Given the description of an element on the screen output the (x, y) to click on. 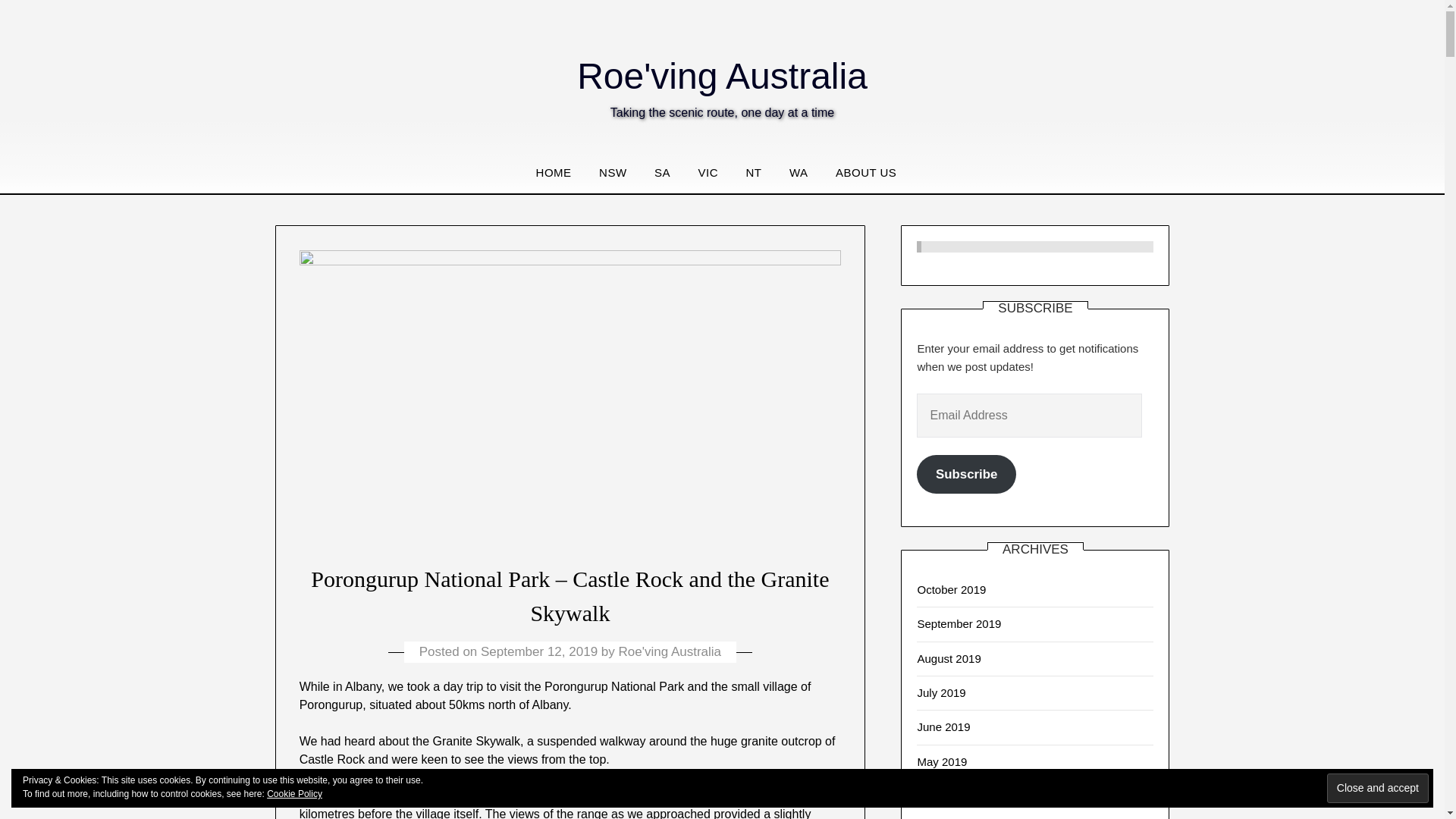
Roe'ving Australia (721, 76)
Cookie Policy (293, 793)
April 2019 (942, 795)
NT (753, 172)
Subscribe (965, 474)
July 2019 (941, 692)
SA (662, 172)
NSW (612, 172)
WA (799, 172)
HOME (559, 172)
